Given the description of an element on the screen output the (x, y) to click on. 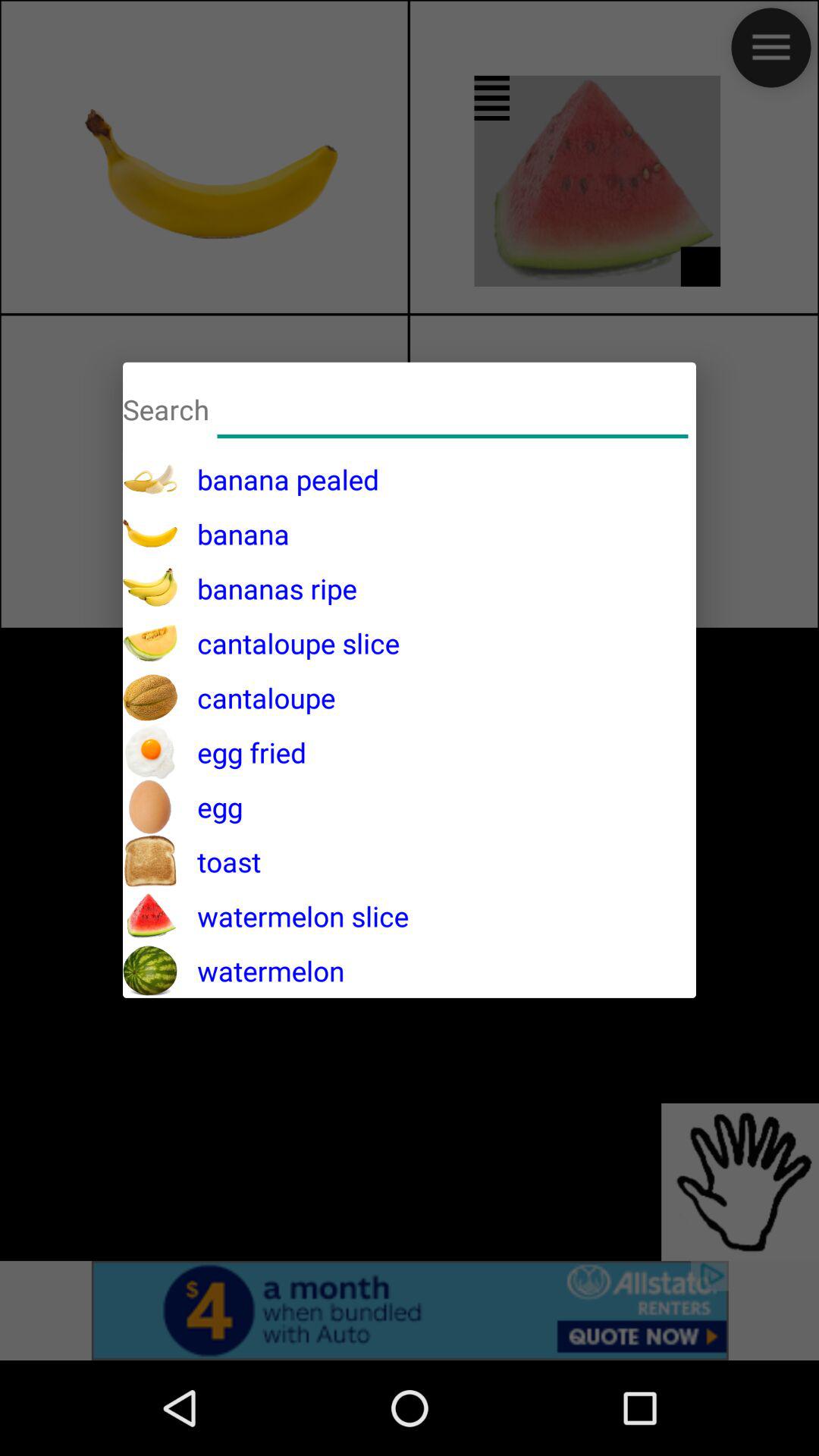
banana (452, 407)
